Given the description of an element on the screen output the (x, y) to click on. 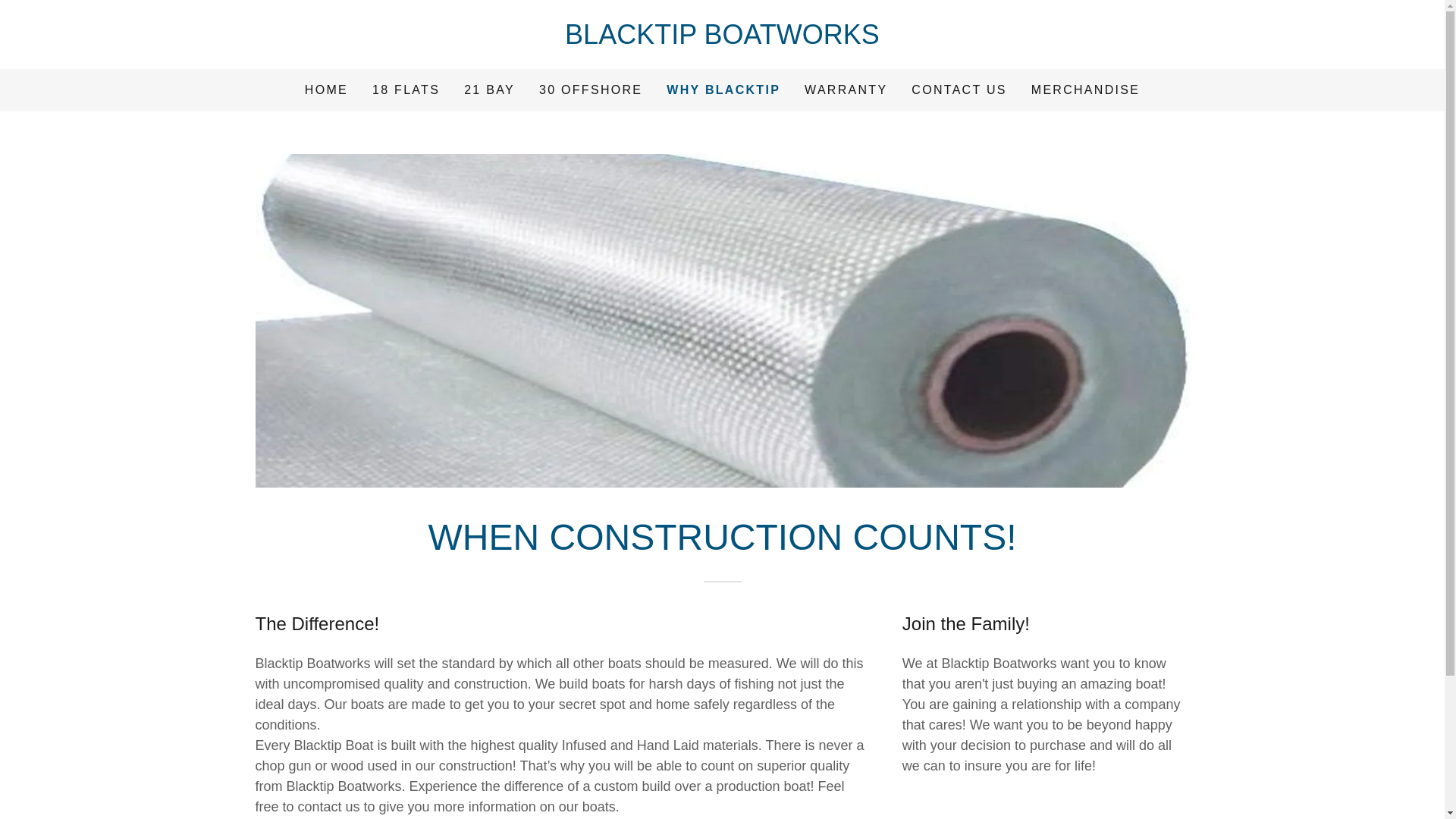
BLACKTIP BOATWORKS (721, 38)
MERCHANDISE (1085, 90)
WARRANTY (845, 90)
30 OFFSHORE (590, 90)
21 BAY (489, 90)
HOME (325, 90)
18 FLATS (406, 90)
CONTACT US (958, 90)
WHY BLACKTIP (723, 90)
Blacktip Boatworks (721, 38)
